Given the description of an element on the screen output the (x, y) to click on. 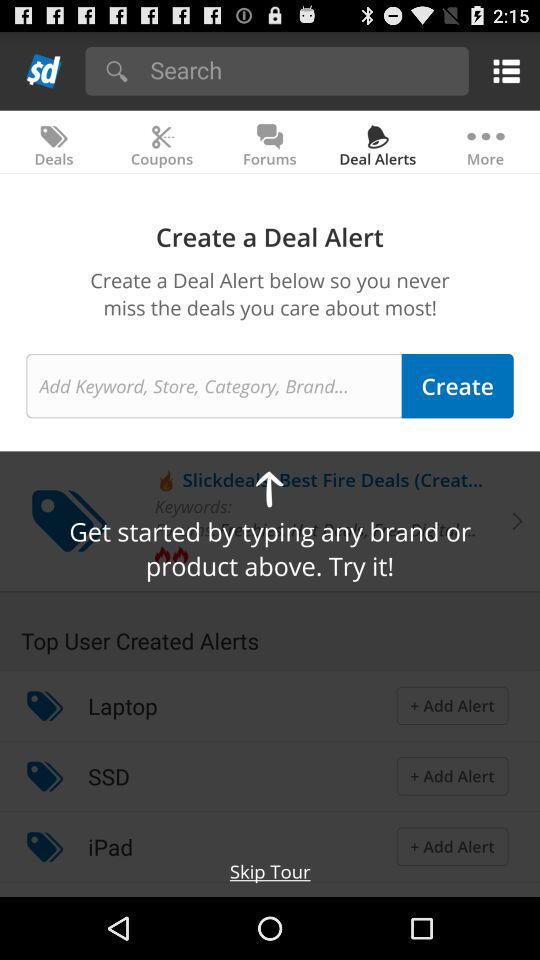
tap item next to freebies hot deals item (185, 529)
